Given the description of an element on the screen output the (x, y) to click on. 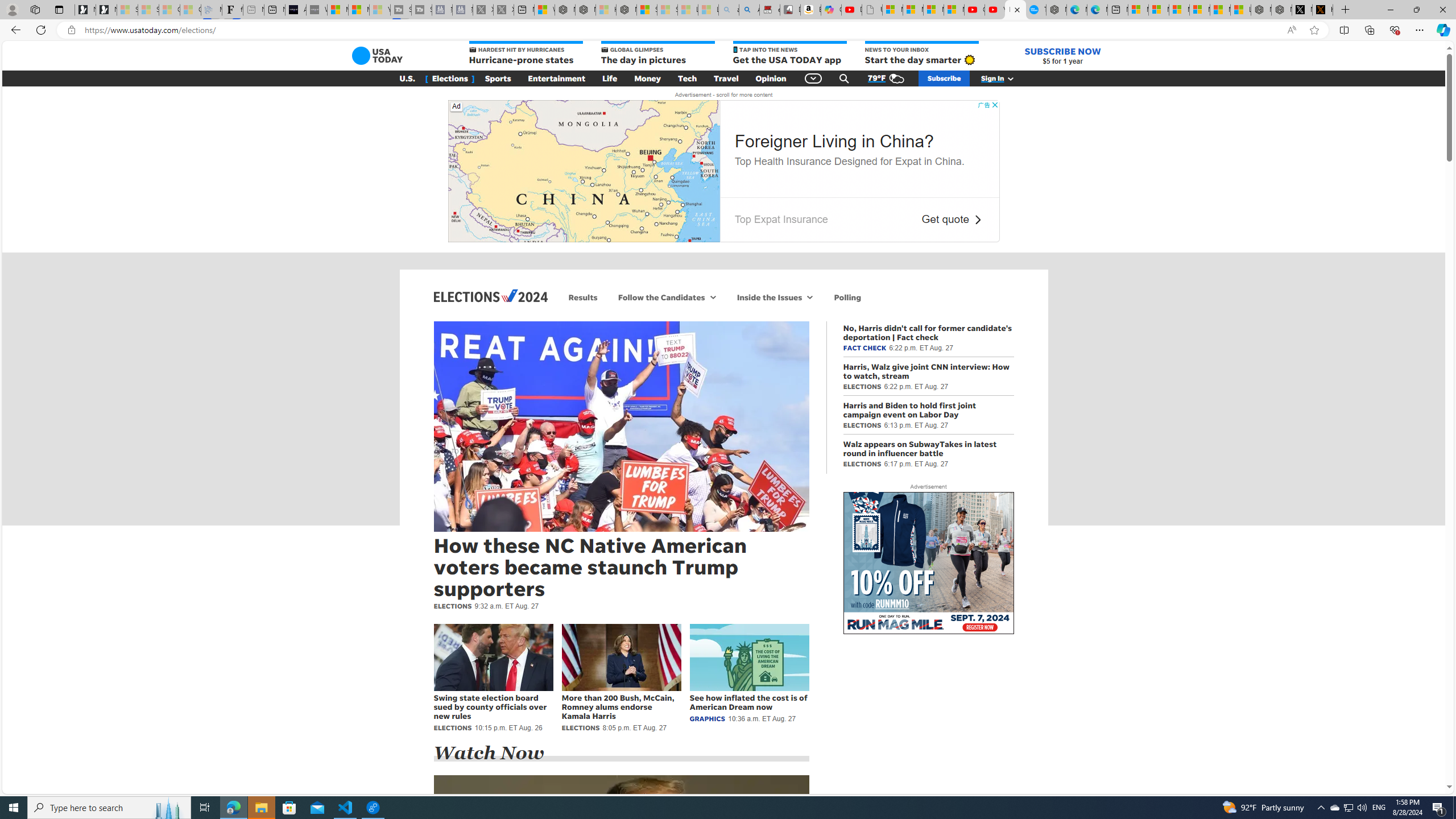
Microsoft Start (1219, 9)
AutomationID: aw0 (928, 563)
Polling (846, 296)
